Given the description of an element on the screen output the (x, y) to click on. 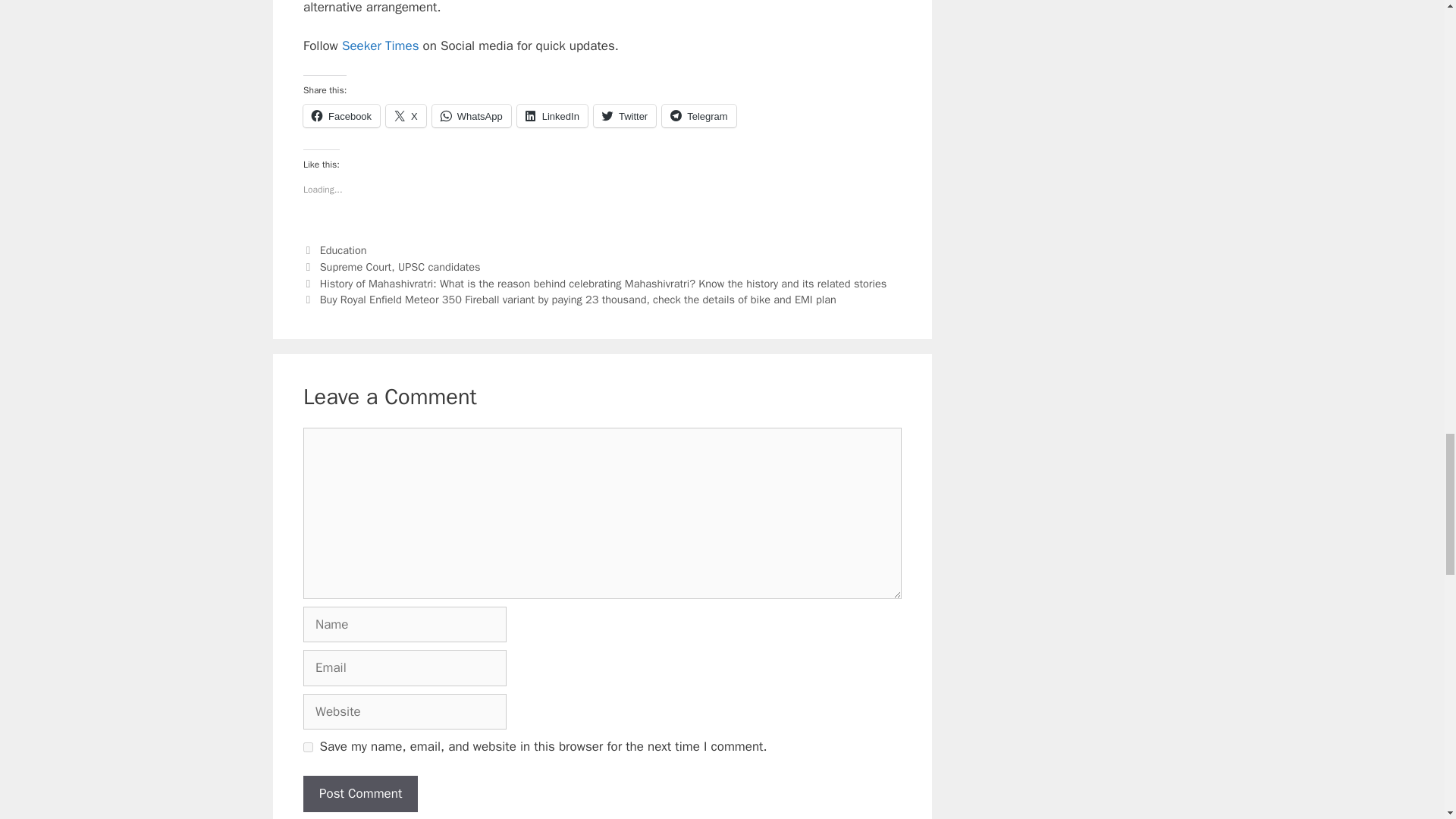
LinkedIn (552, 115)
Click to share on Facebook (341, 115)
WhatsApp (471, 115)
Facebook (341, 115)
Twitter (625, 115)
Click to share on WhatsApp (471, 115)
Seeker Times (380, 45)
Click to share on LinkedIn (552, 115)
Click to share on Twitter (625, 115)
X (405, 115)
